Given the description of an element on the screen output the (x, y) to click on. 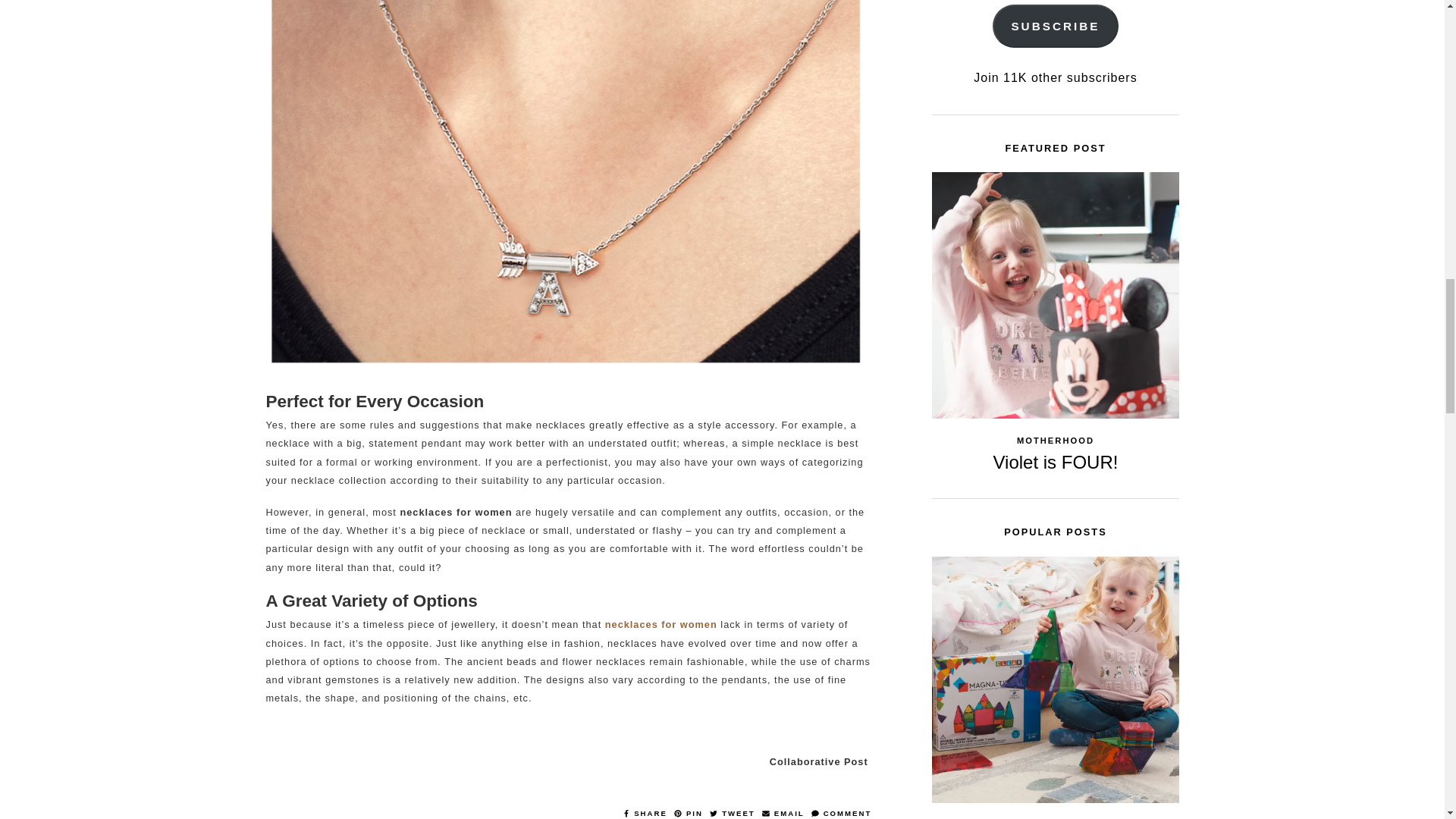
Facebook (646, 813)
Twitter (733, 813)
